Given the description of an element on the screen output the (x, y) to click on. 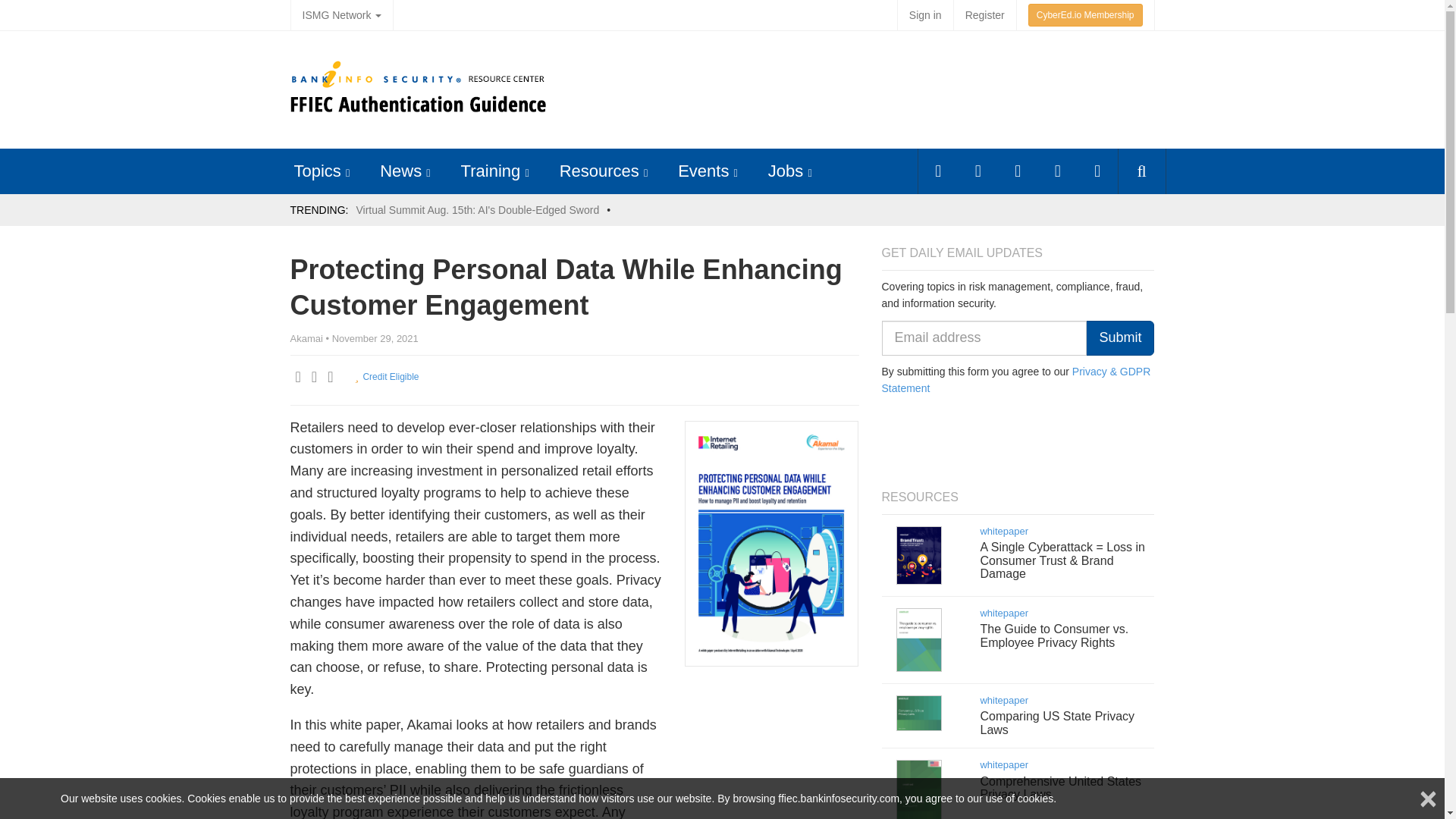
ISMG Network (341, 15)
Topics (317, 170)
CyberEd.io Membership (1084, 15)
News (401, 170)
Register (984, 15)
Sign in (925, 15)
